Given the description of an element on the screen output the (x, y) to click on. 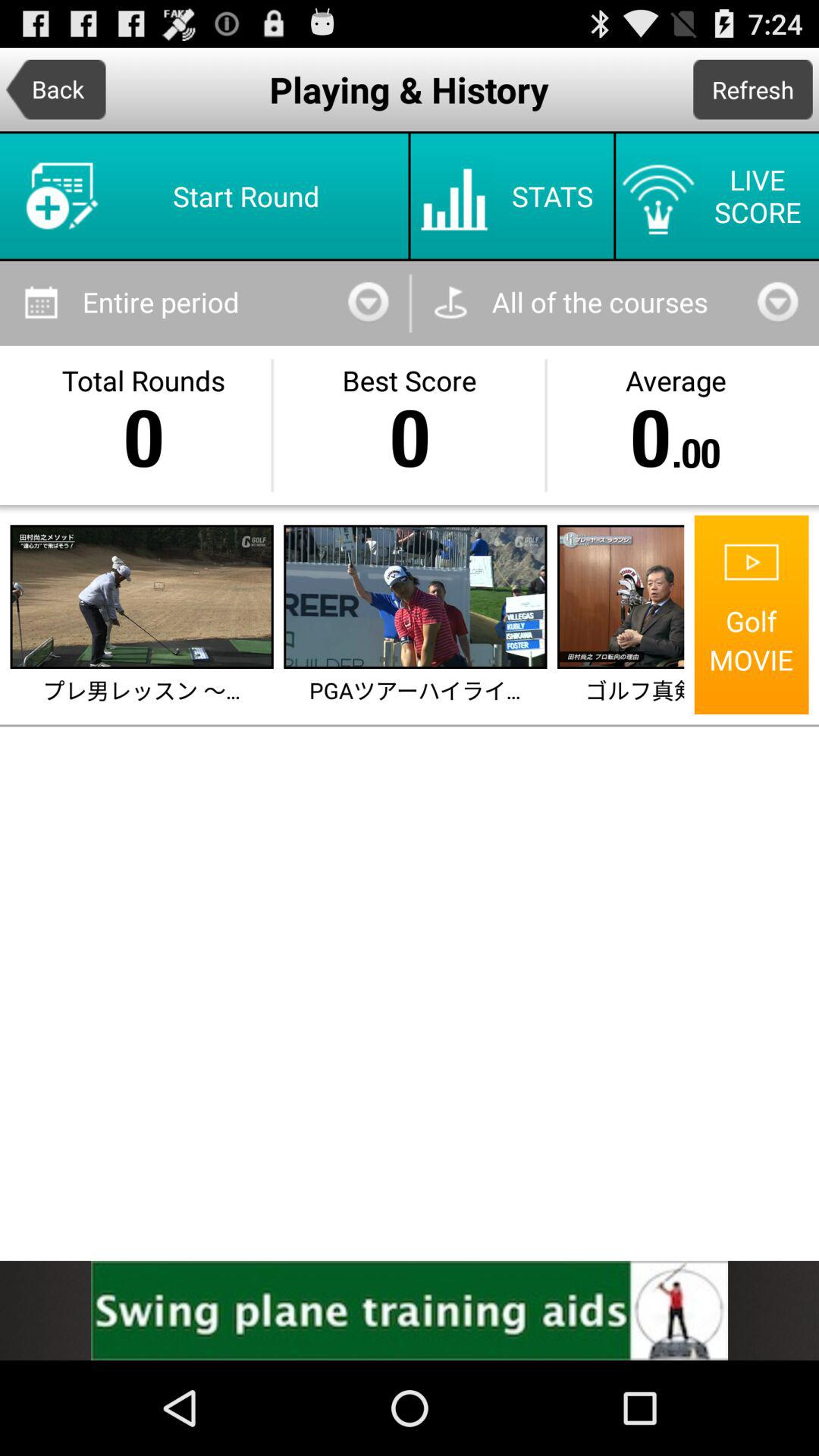
open picture (141, 596)
